Given the description of an element on the screen output the (x, y) to click on. 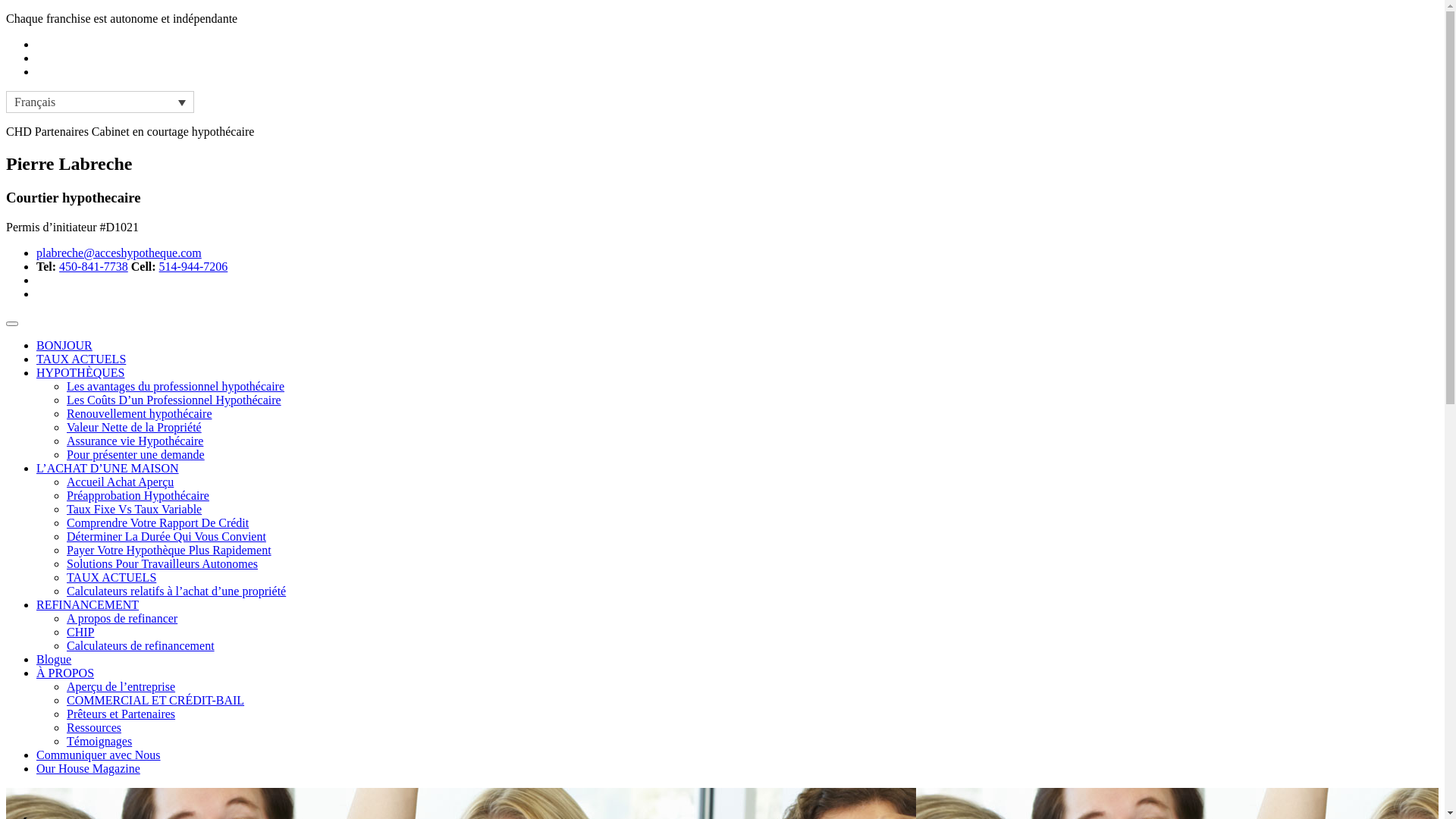
A propos de refinancer Element type: text (121, 617)
450-841-7738 Element type: text (93, 266)
Our House Magazine Element type: text (88, 768)
Blogue Element type: text (53, 658)
Calculateurs de refinancement Element type: text (140, 645)
Taux Fixe Vs Taux Variable Element type: text (133, 508)
514-944-7206 Element type: text (193, 266)
REFINANCEMENT Element type: text (87, 604)
Ressources Element type: text (93, 727)
Solutions Pour Travailleurs Autonomes Element type: text (161, 563)
BONJOUR Element type: text (64, 344)
CHIP Element type: text (80, 631)
TAUX ACTUELS Element type: text (80, 358)
plabreche@acceshypotheque.com Element type: text (118, 252)
Communiquer avec Nous Element type: text (98, 754)
TAUX ACTUELS Element type: text (111, 577)
